Given the description of an element on the screen output the (x, y) to click on. 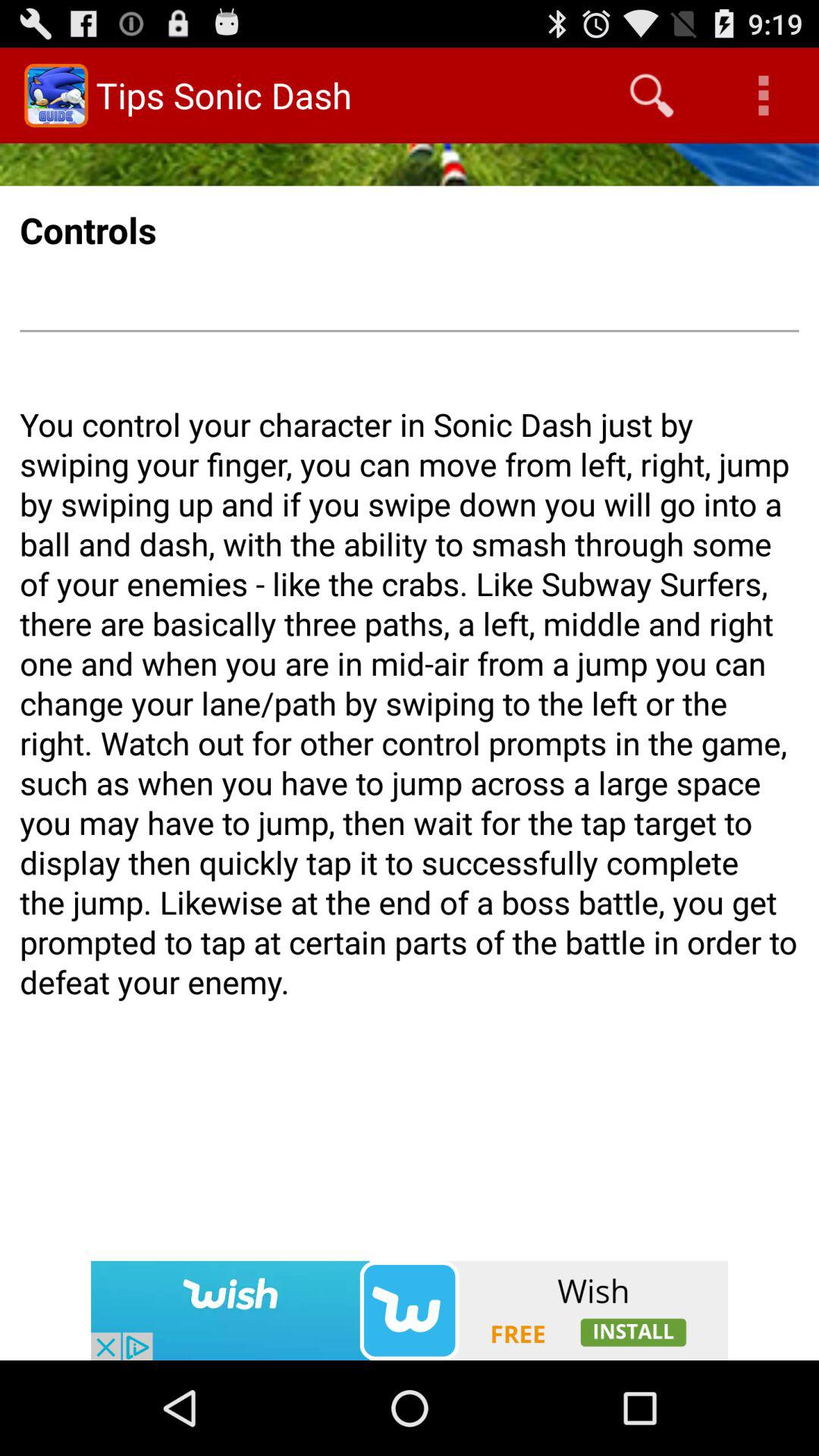
installs the wish app (409, 1310)
